Given the description of an element on the screen output the (x, y) to click on. 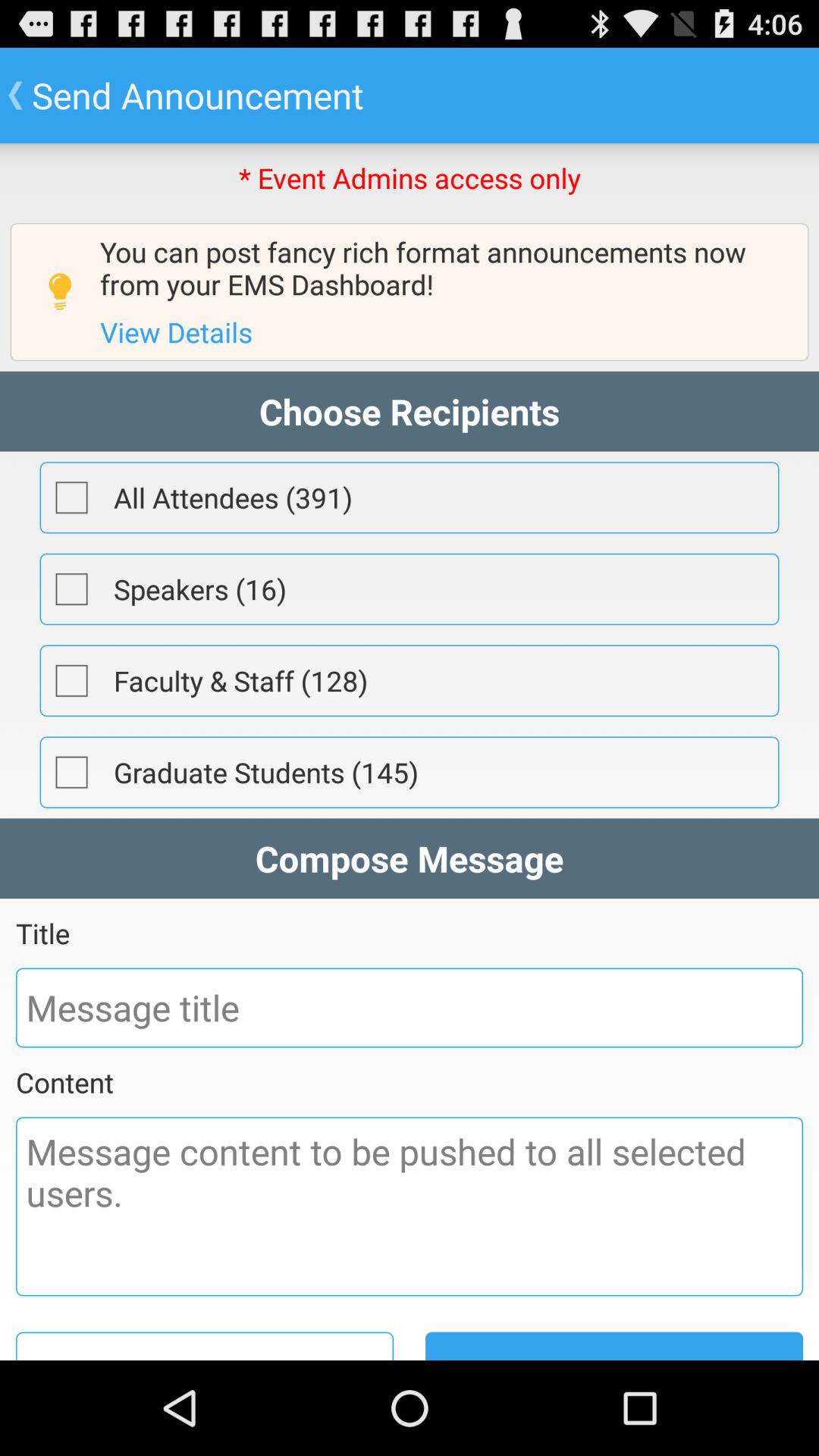
select item (71, 680)
